Given the description of an element on the screen output the (x, y) to click on. 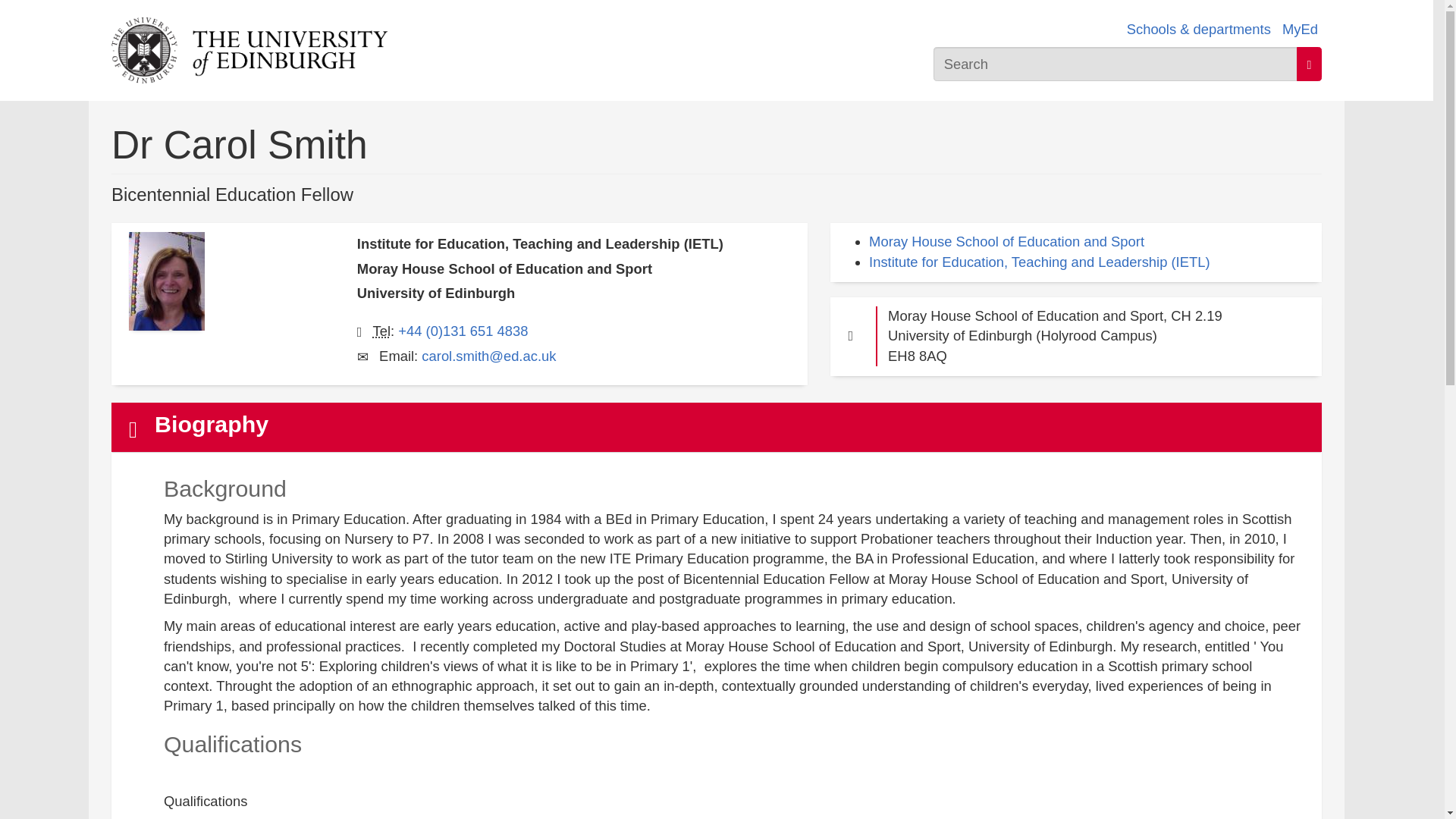
MyEd (1299, 28)
Biography (716, 427)
Telephone number (381, 330)
Moray House School of Education and Sport (1006, 241)
